Given the description of an element on the screen output the (x, y) to click on. 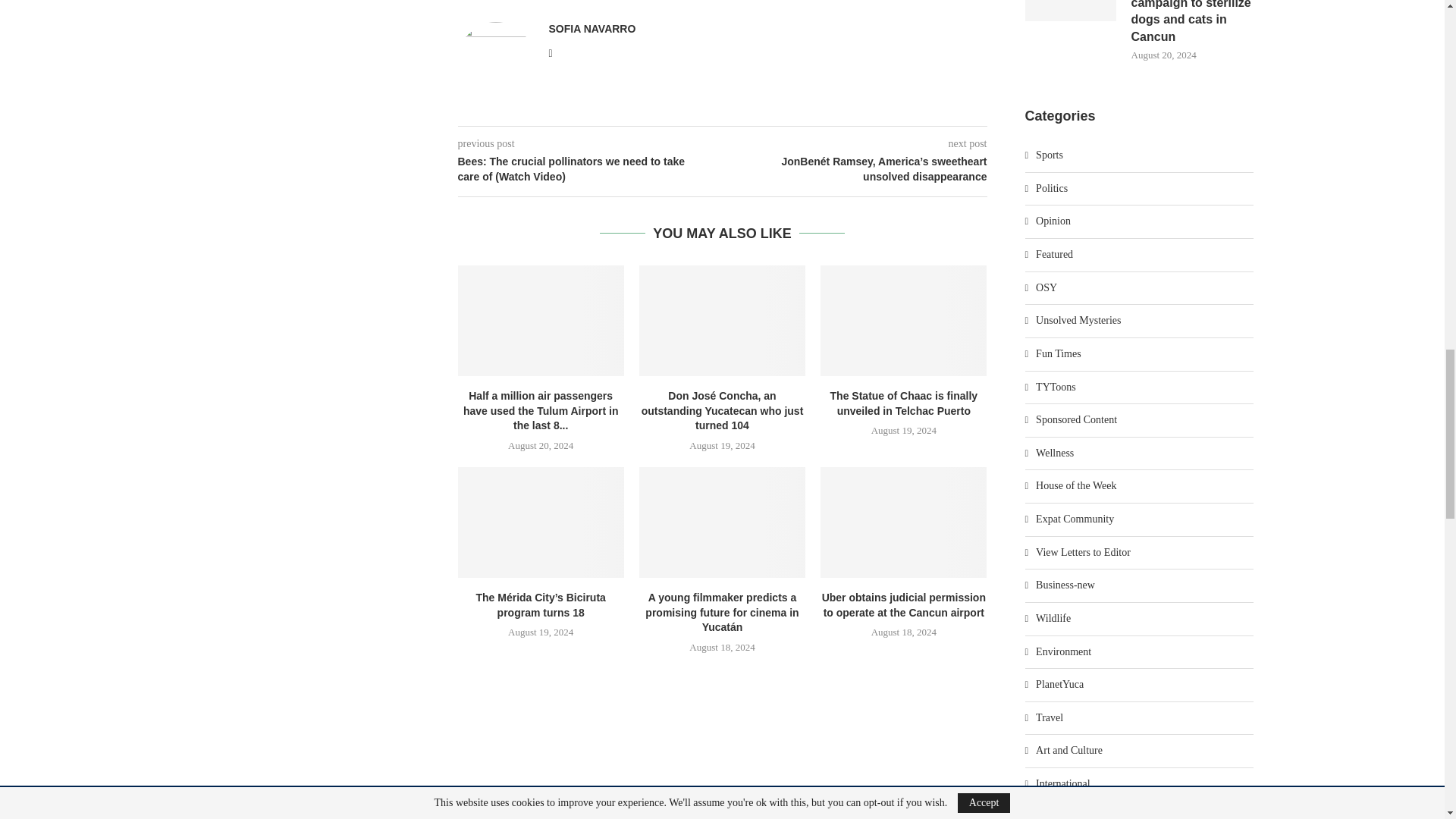
Author Sofia Navarro (592, 29)
The Statue of Chaac is finally unveiled in Telchac Puerto (904, 320)
